Given the description of an element on the screen output the (x, y) to click on. 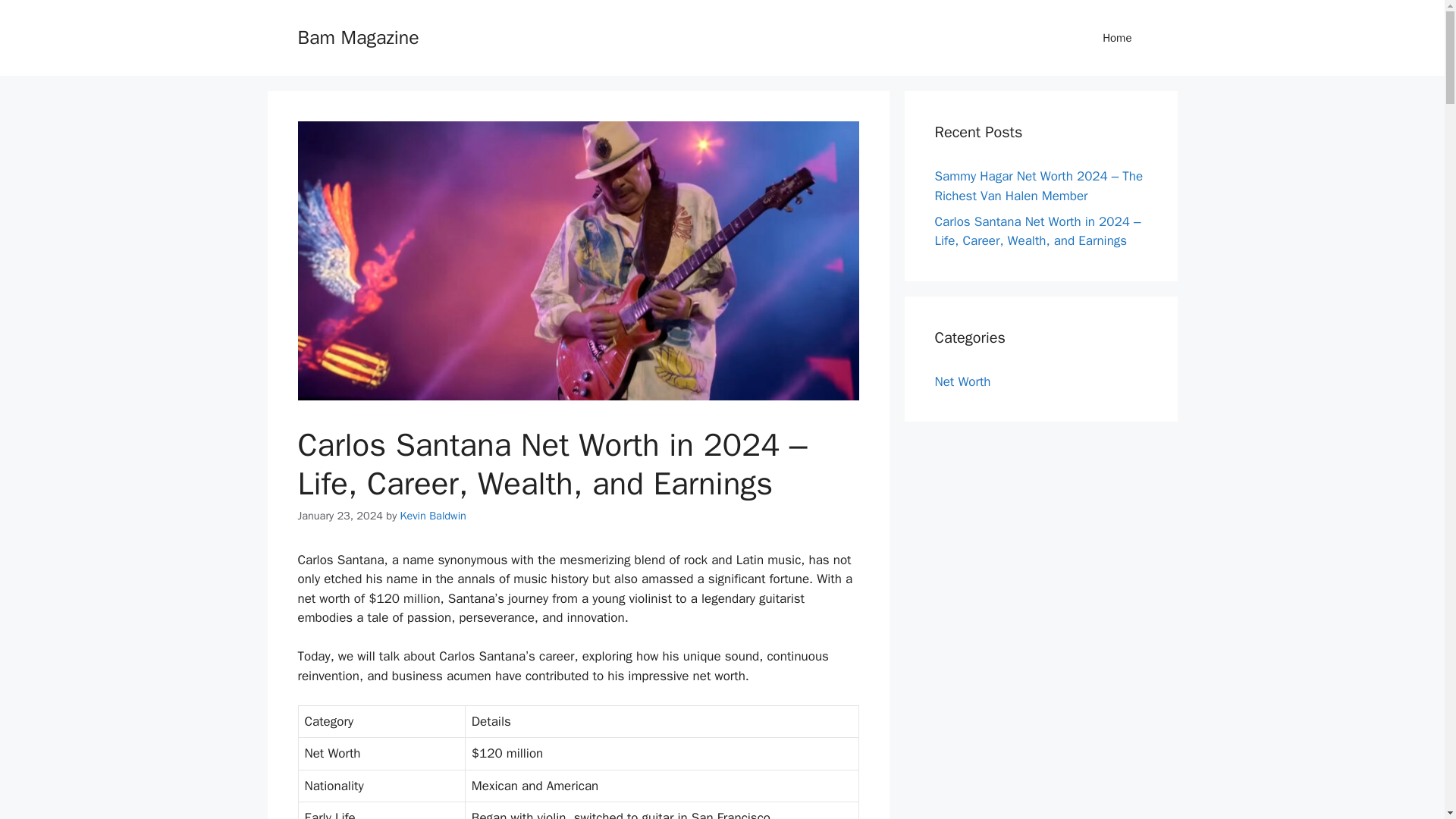
Kevin Baldwin (432, 515)
View all posts by Kevin Baldwin (432, 515)
Home (1117, 37)
Bam Magazine (358, 37)
Net Worth (962, 381)
